Given the description of an element on the screen output the (x, y) to click on. 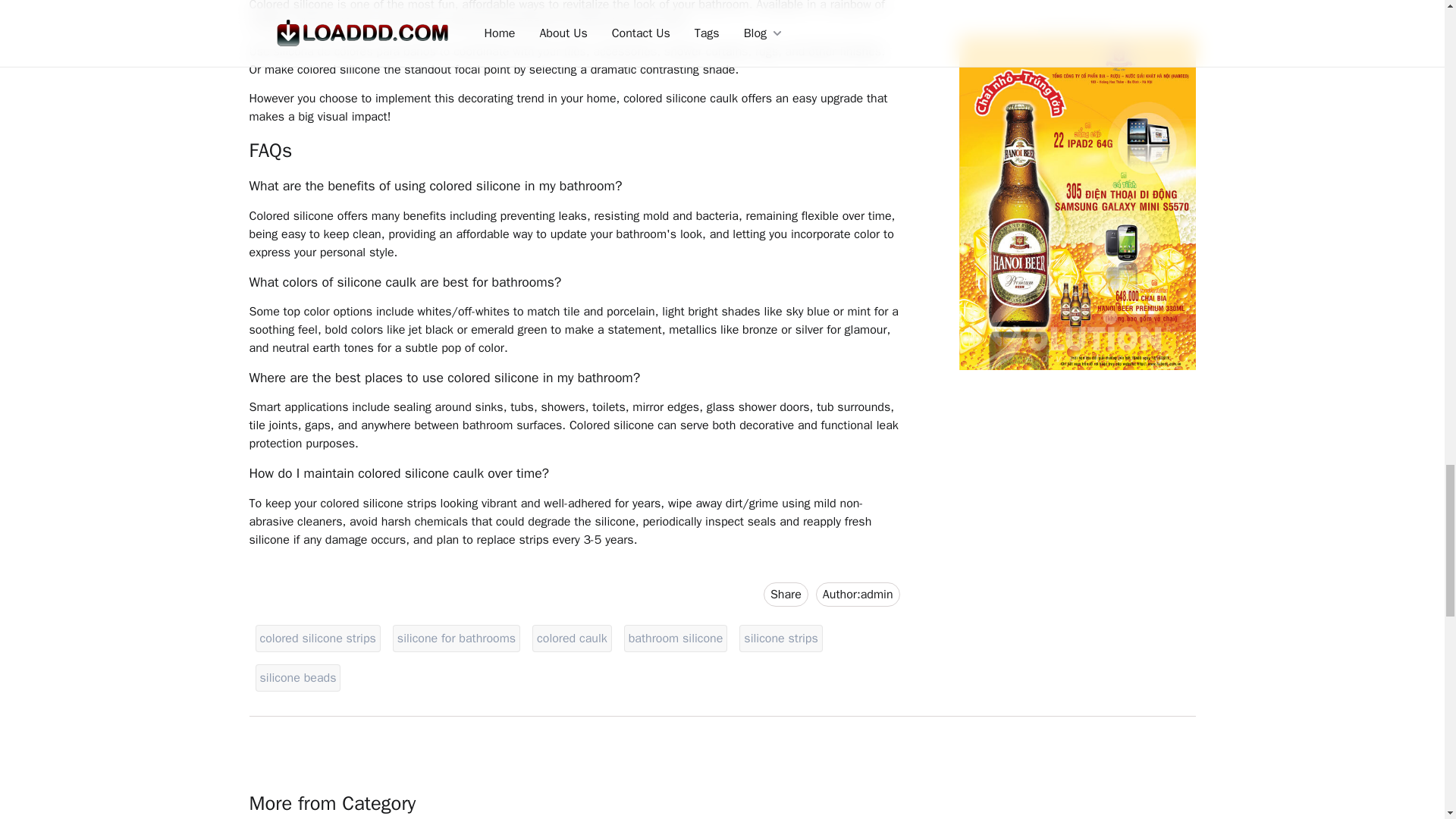
 colored caulk (571, 638)
bathroom silicone (675, 638)
colored silicone strips (316, 638)
 silicone for bathrooms (456, 638)
 silicone beads (297, 677)
silicone beads (297, 677)
colored silicone strips (316, 638)
 bathroom silicone (675, 638)
 silicone strips (780, 638)
silicone for bathrooms (456, 638)
Share (857, 594)
colored caulk (785, 594)
silicone strips (571, 638)
